Given the description of an element on the screen output the (x, y) to click on. 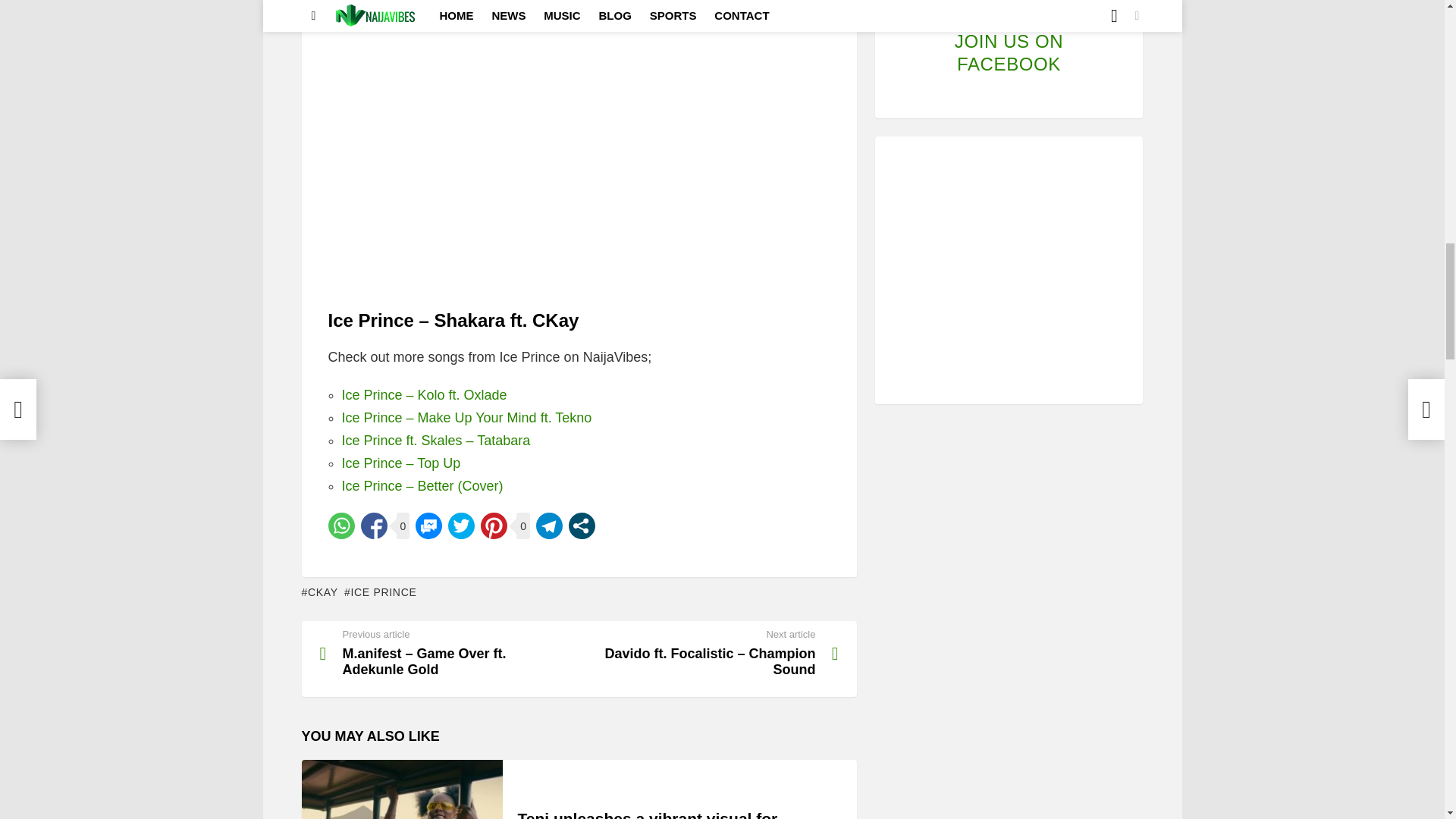
Send on Facebook Messenger (428, 525)
Tweet (461, 525)
Share on Pinterest (493, 525)
Share on Facebook (374, 525)
Share on WhatsApp (340, 525)
Share on Telegram (548, 525)
Open modal social networks (582, 525)
